Given the description of an element on the screen output the (x, y) to click on. 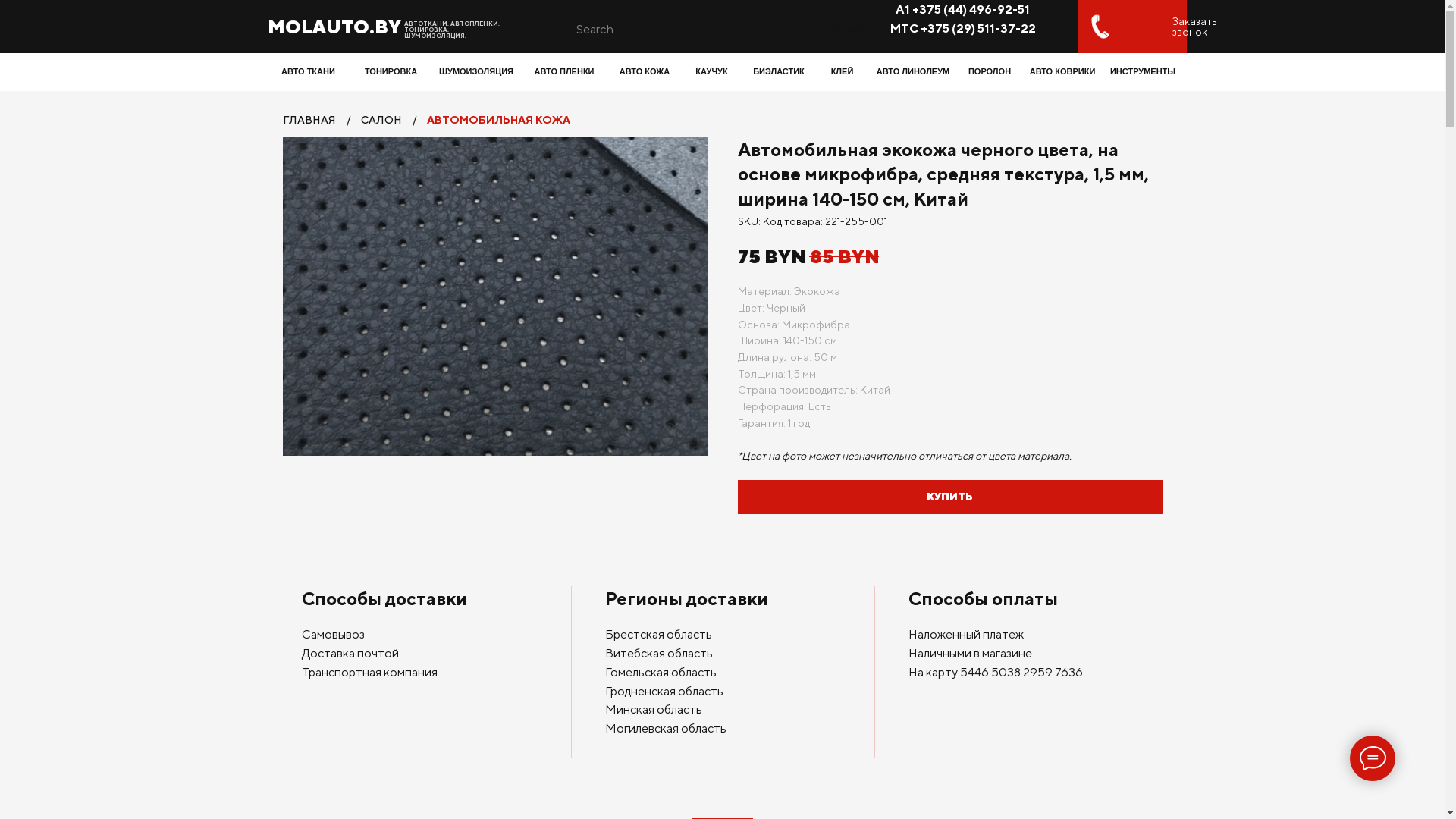
MOLAUTO.BY Element type: text (333, 26)
